Given the description of an element on the screen output the (x, y) to click on. 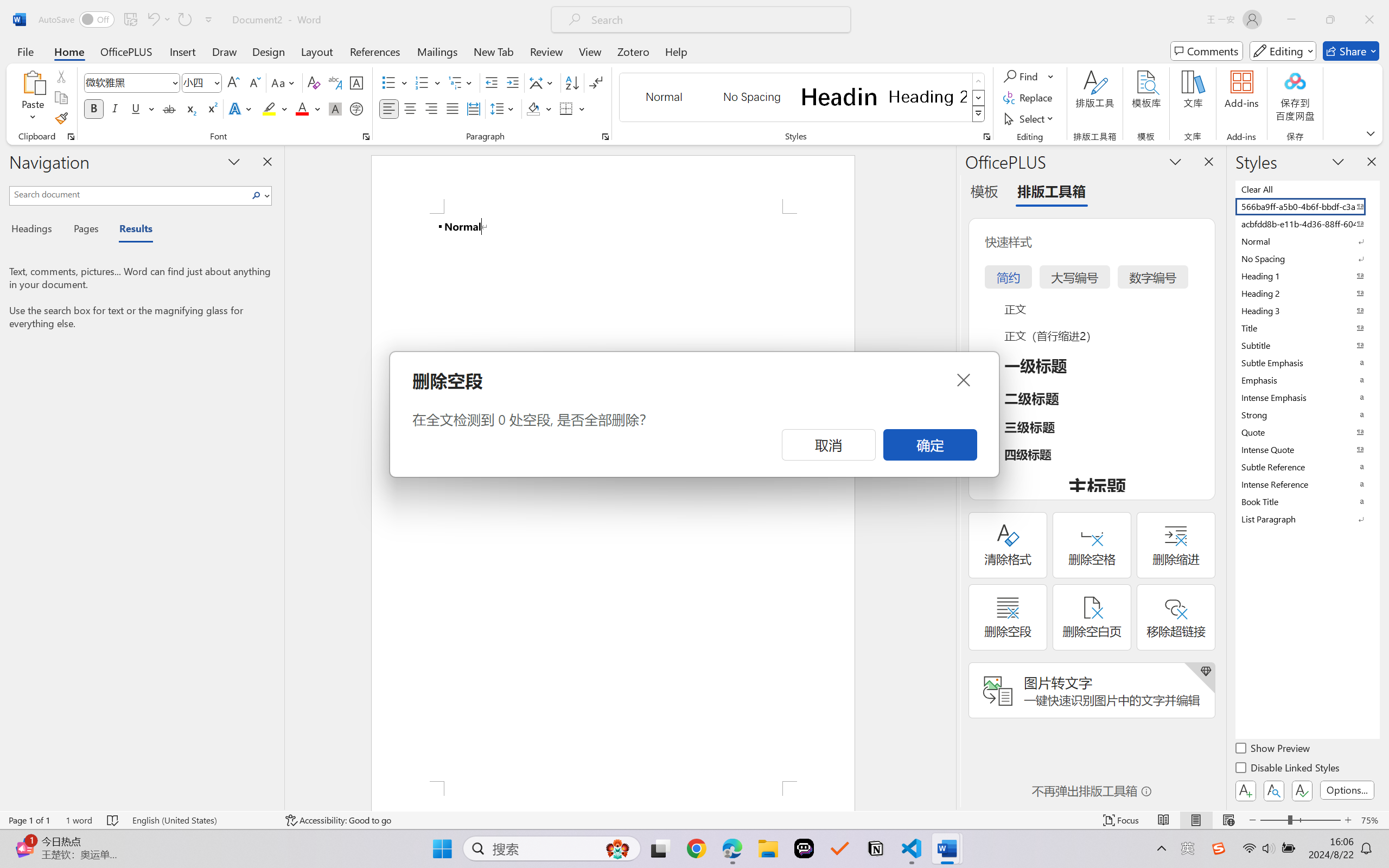
Options... (1346, 789)
Text Effects and Typography (241, 108)
Row Down (978, 97)
Enclose Characters... (356, 108)
Font Color Red (302, 108)
AutomationID: DynamicSearchBoxGleamImage (617, 848)
Copy (60, 97)
Underline (135, 108)
